Given the description of an element on the screen output the (x, y) to click on. 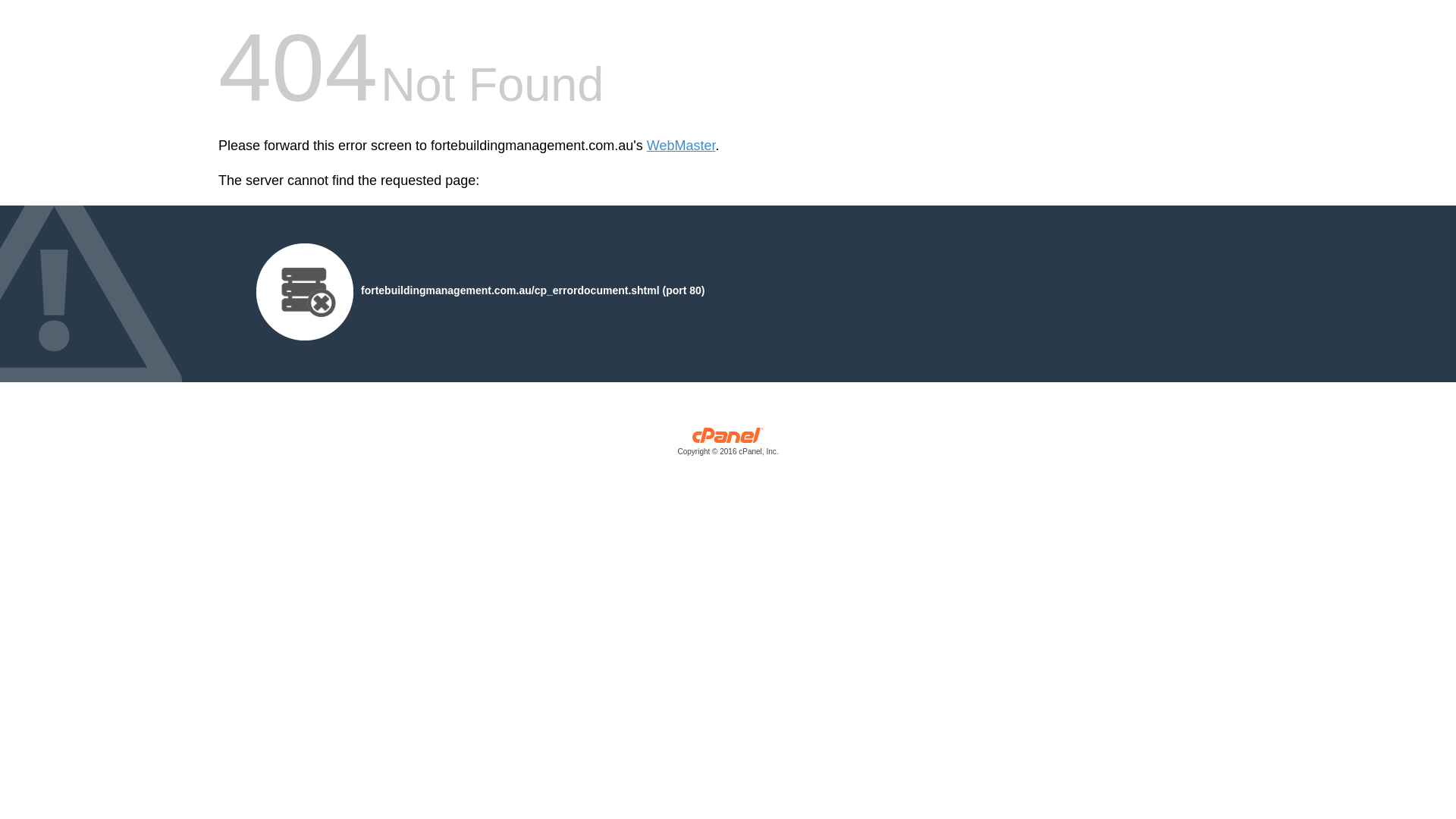
WebMaster Element type: text (680, 145)
